Given the description of an element on the screen output the (x, y) to click on. 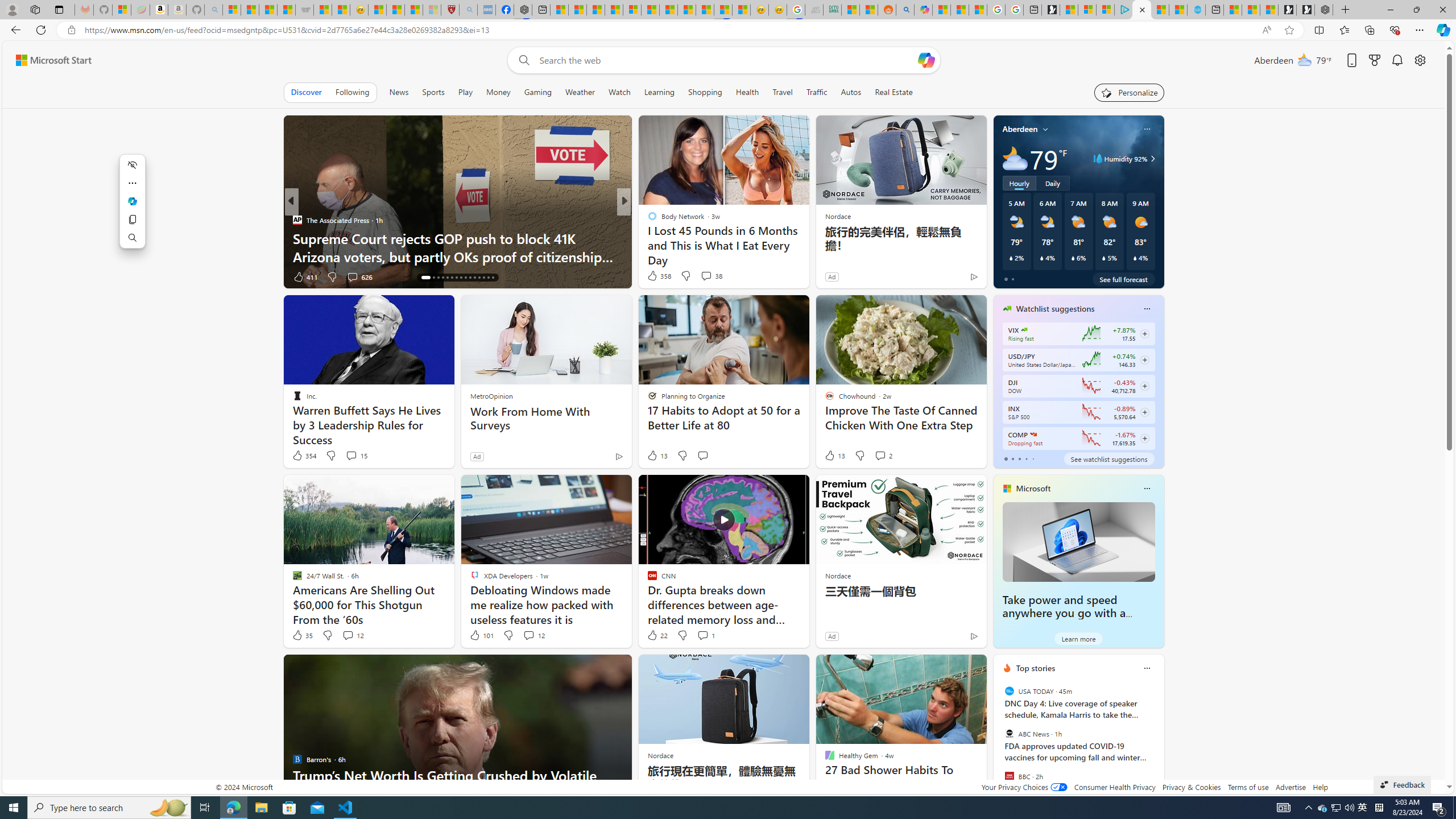
My location (1045, 128)
USA TODAY (1008, 691)
MetroOpinion (491, 395)
tab-2 (1019, 458)
